Given the description of an element on the screen output the (x, y) to click on. 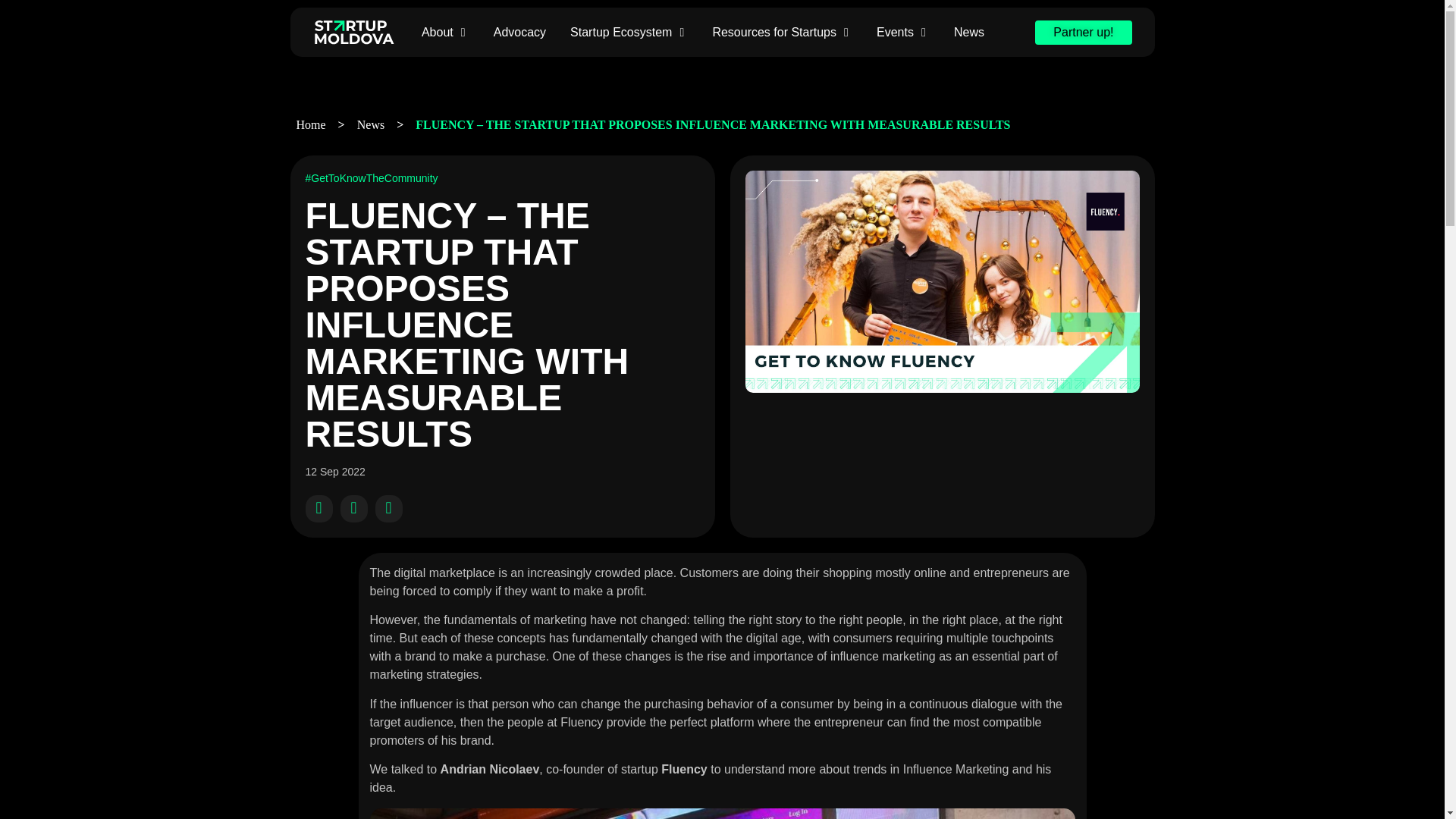
News (968, 31)
News (370, 124)
Partner up! (1083, 31)
Home (310, 124)
Advocacy (519, 31)
